Given the description of an element on the screen output the (x, y) to click on. 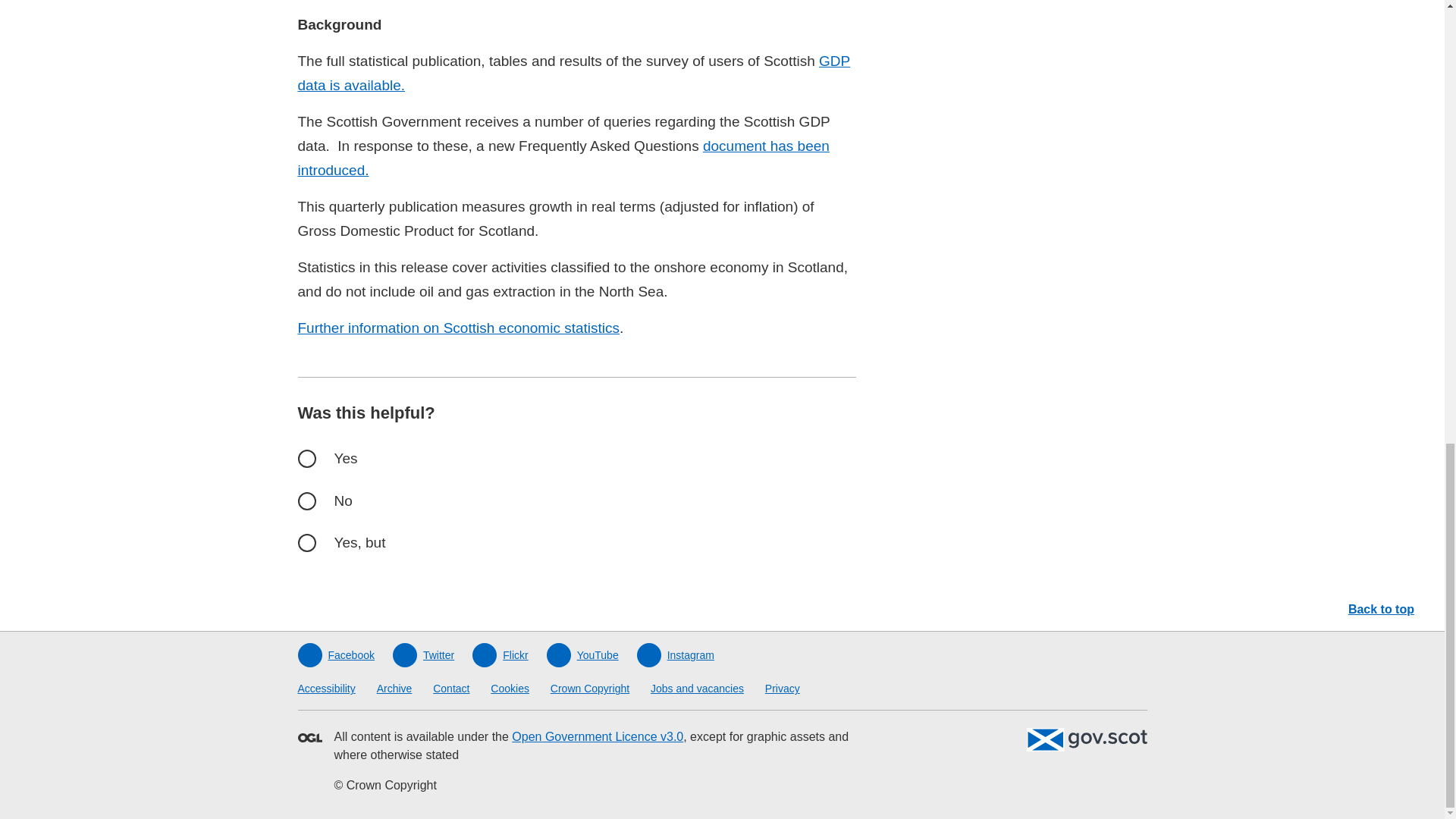
YouTube (582, 654)
Further information on Scottish economic statistics (458, 327)
Twitter (423, 654)
Facebook (335, 654)
GDP data is available. (573, 73)
Flickr (499, 654)
Twitter (423, 654)
YouTube (582, 654)
document has been introduced. (562, 158)
Flickr (499, 654)
Instagram (675, 654)
Facebook (335, 654)
